Given the description of an element on the screen output the (x, y) to click on. 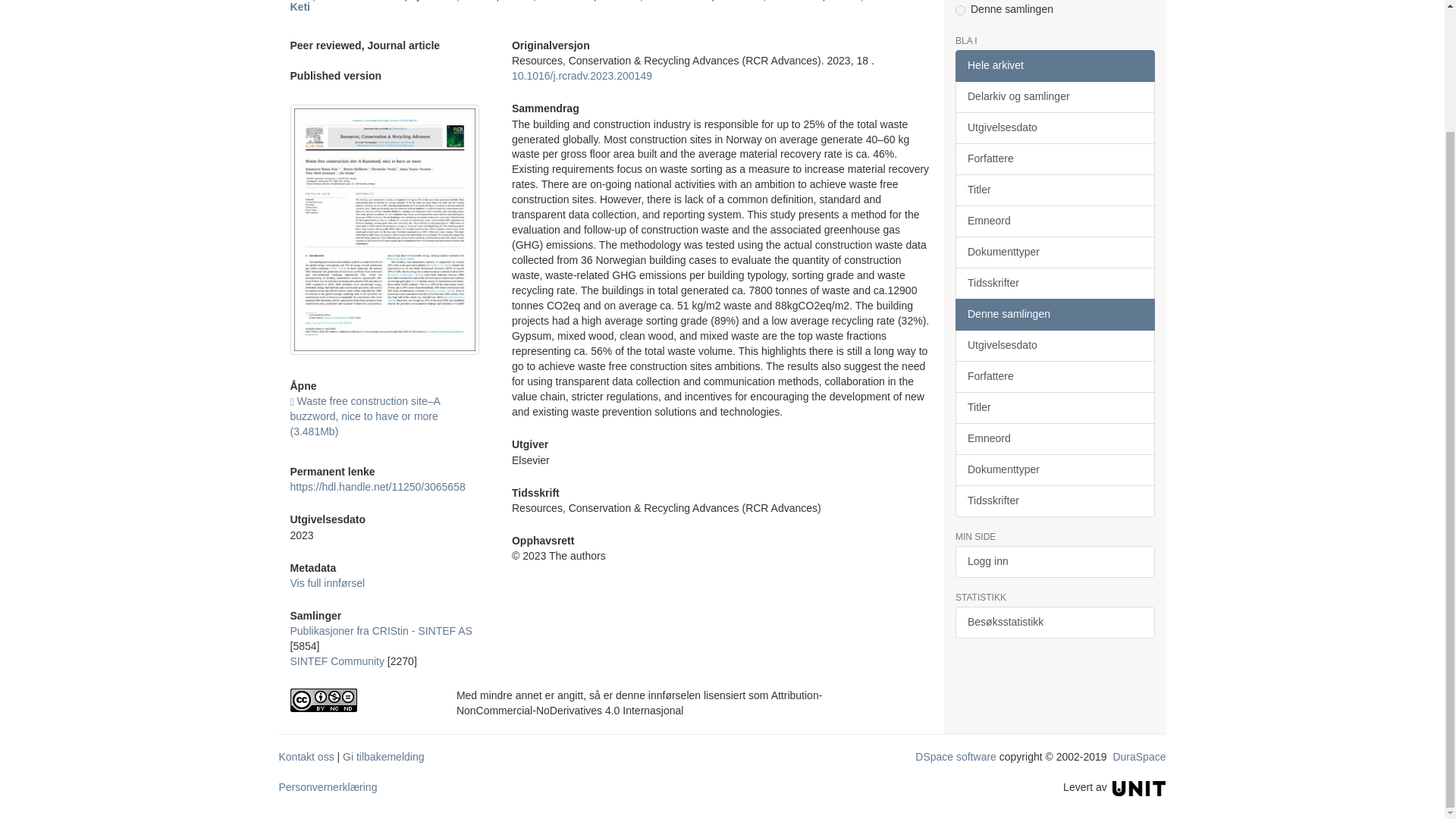
SINTEF Community (336, 661)
Fjellheim, Kristin (453, 0)
Vevatne, Jonas Tautra (655, 0)
Kummen, Thea Mork (769, 0)
Henke, Lilo Maria Keti (602, 6)
Unit (1139, 787)
Publikasjoner fra CRIStin - SINTEF AS (380, 630)
Attribution-NonCommercial-NoDerivatives 4.0 Internasjonal (360, 699)
Fufa, Selamawit Mamo (346, 0)
